Given the description of an element on the screen output the (x, y) to click on. 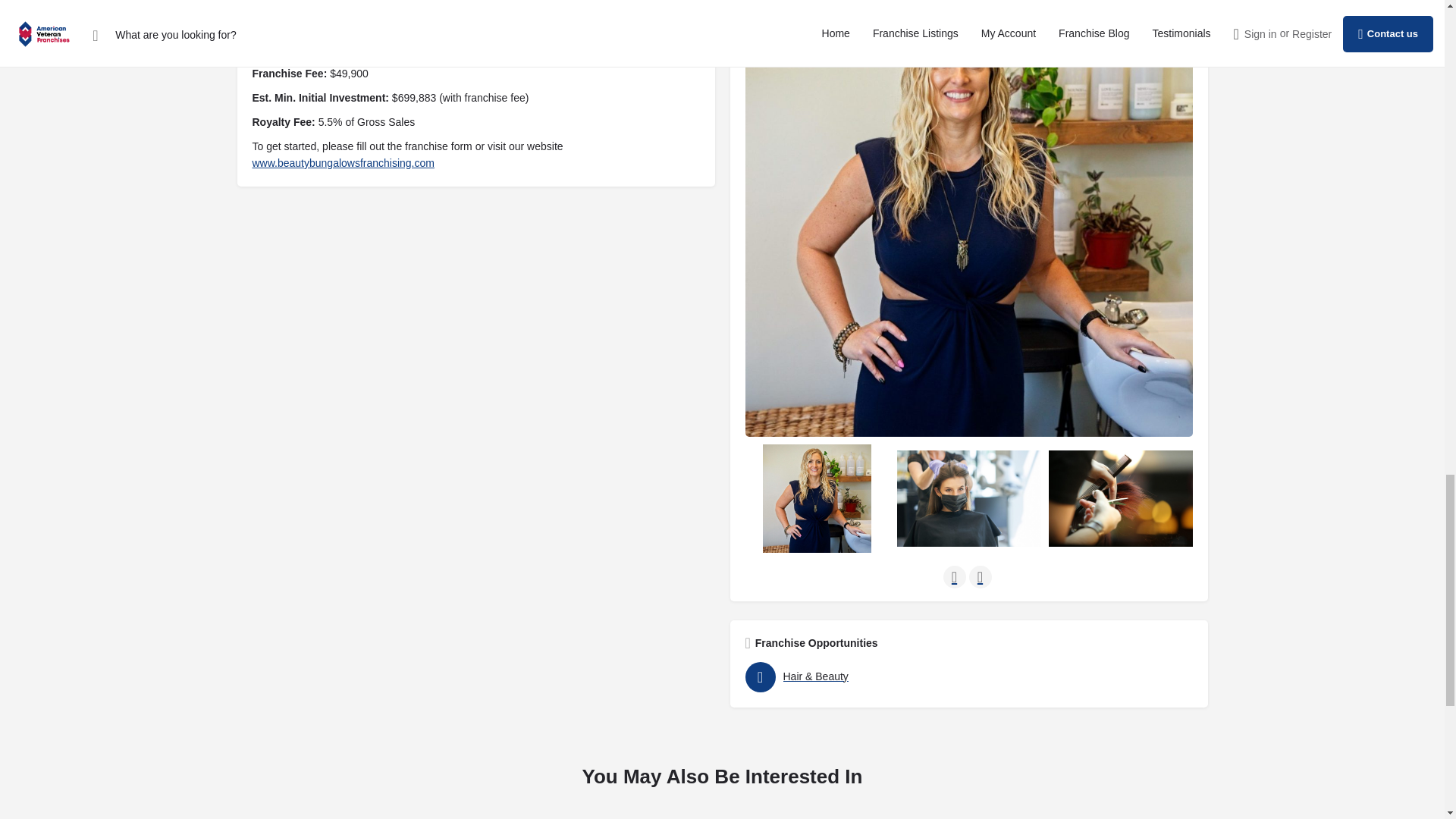
www.beautybungalowsfranchising.com (342, 162)
